Given the description of an element on the screen output the (x, y) to click on. 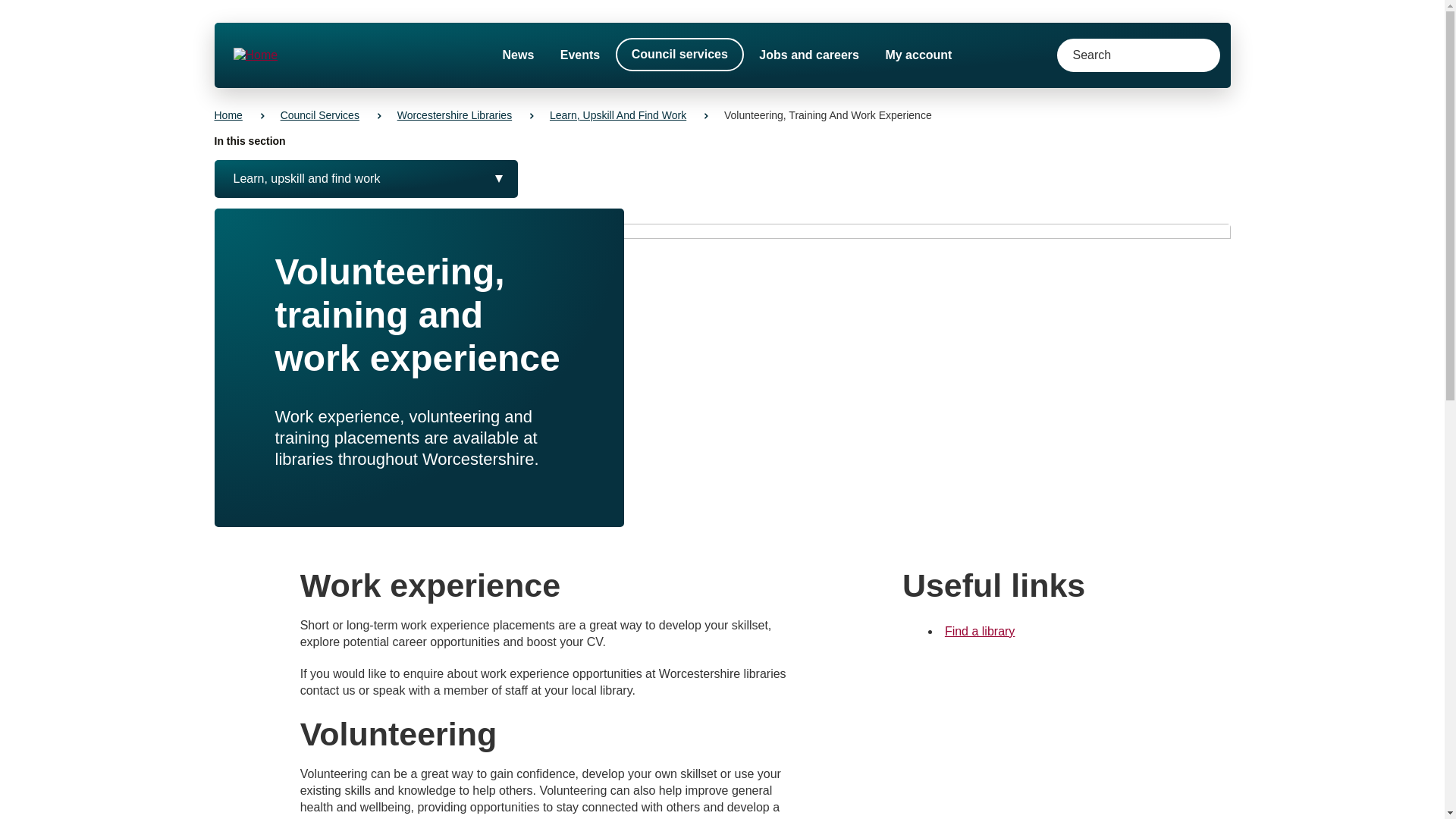
Search (1196, 55)
Council services (679, 54)
Find a library (979, 631)
Jobs and careers (808, 54)
My account (918, 54)
Search (1196, 55)
News (518, 54)
Events (580, 54)
